Given the description of an element on the screen output the (x, y) to click on. 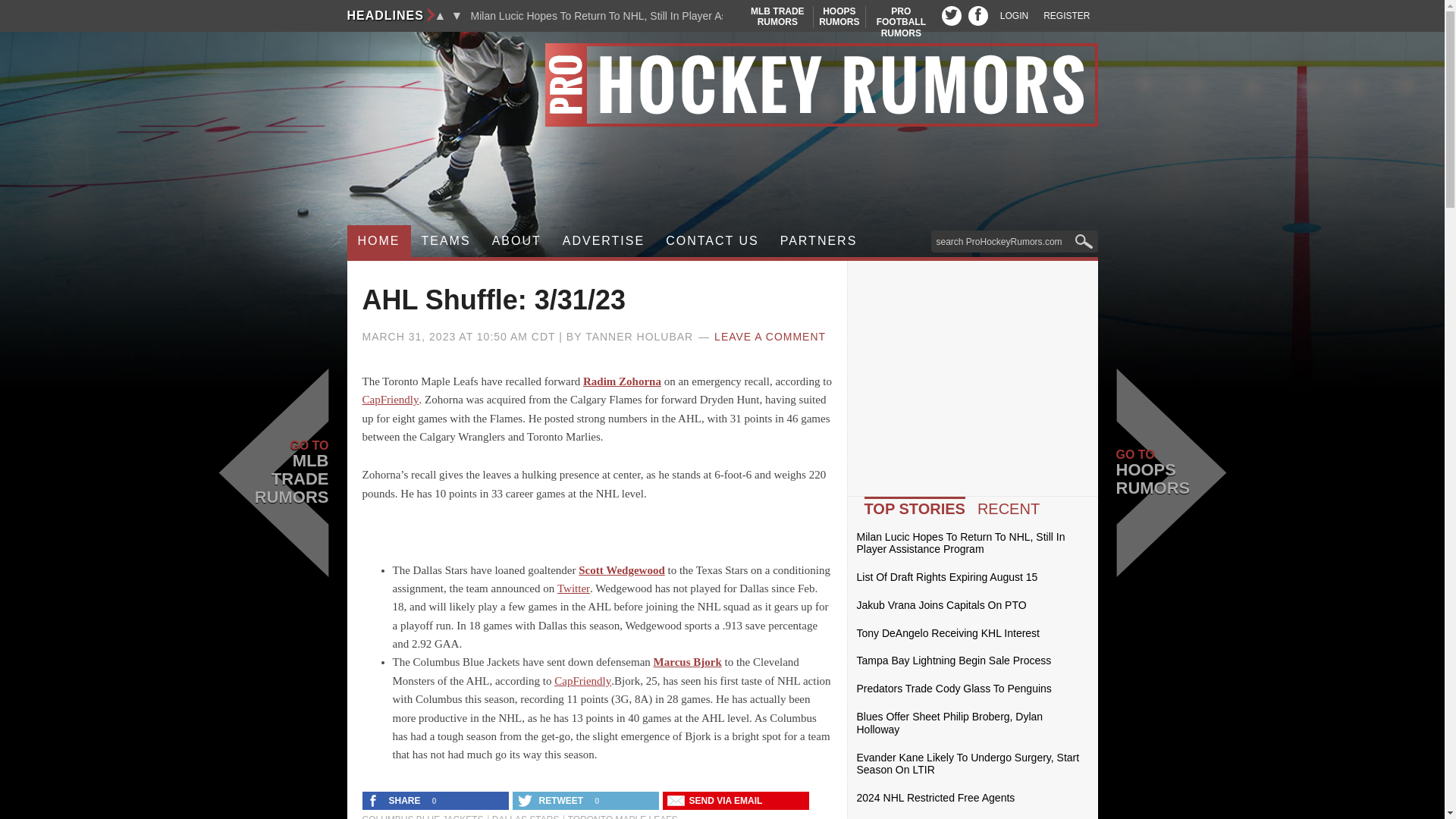
Previous (439, 15)
Twitter profile (951, 15)
LOGIN (1013, 15)
HOME (378, 241)
REGISTER (1066, 15)
Next (901, 21)
